Given the description of an element on the screen output the (x, y) to click on. 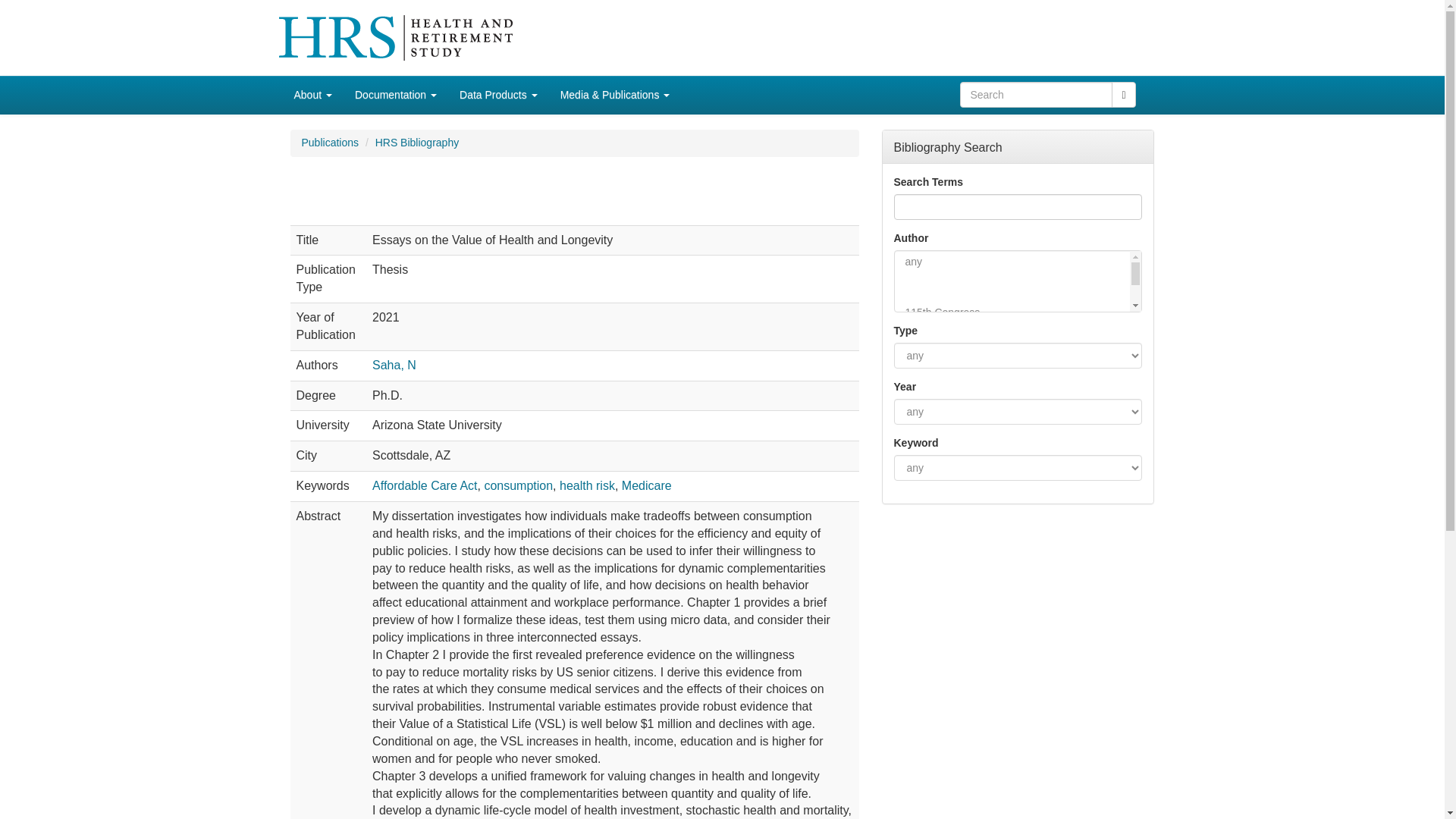
About (312, 94)
Documentation (395, 94)
Data Products (498, 94)
